Given the description of an element on the screen output the (x, y) to click on. 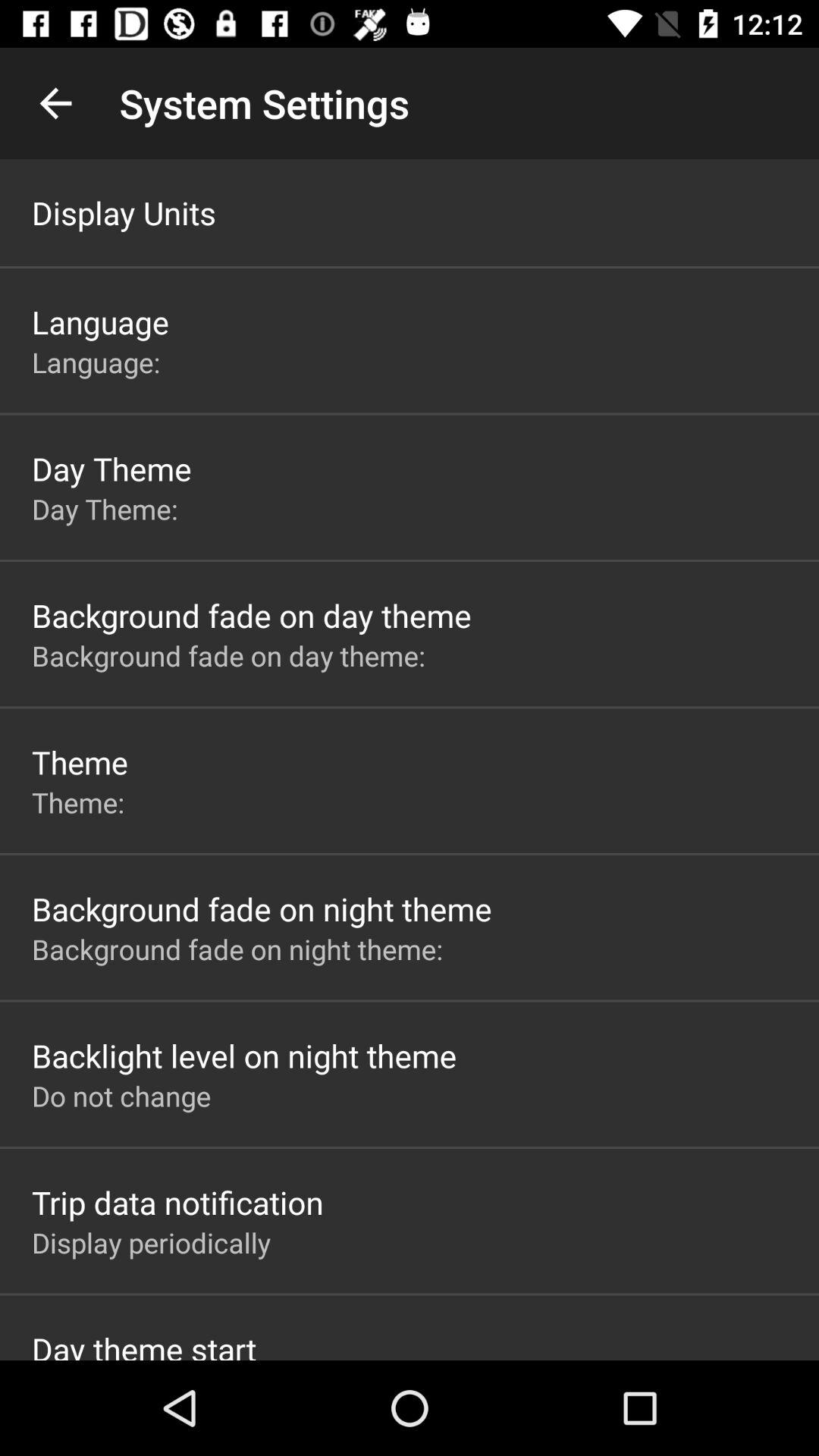
launch icon to the left of the system settings item (55, 103)
